Given the description of an element on the screen output the (x, y) to click on. 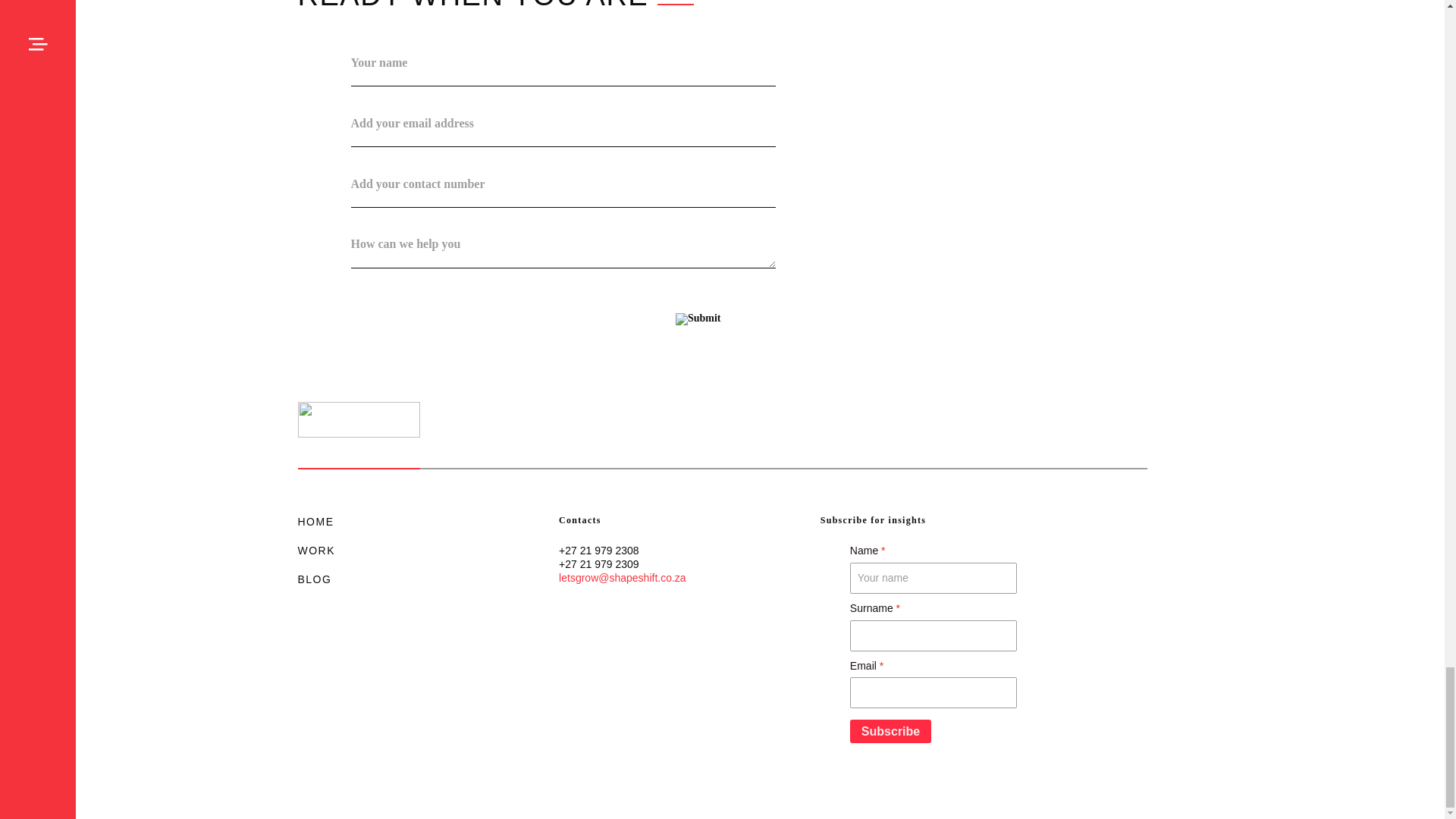
WORK (315, 550)
BLOG (314, 578)
HOME (315, 521)
Send enquiry (697, 318)
Subscribe (890, 730)
